Given the description of an element on the screen output the (x, y) to click on. 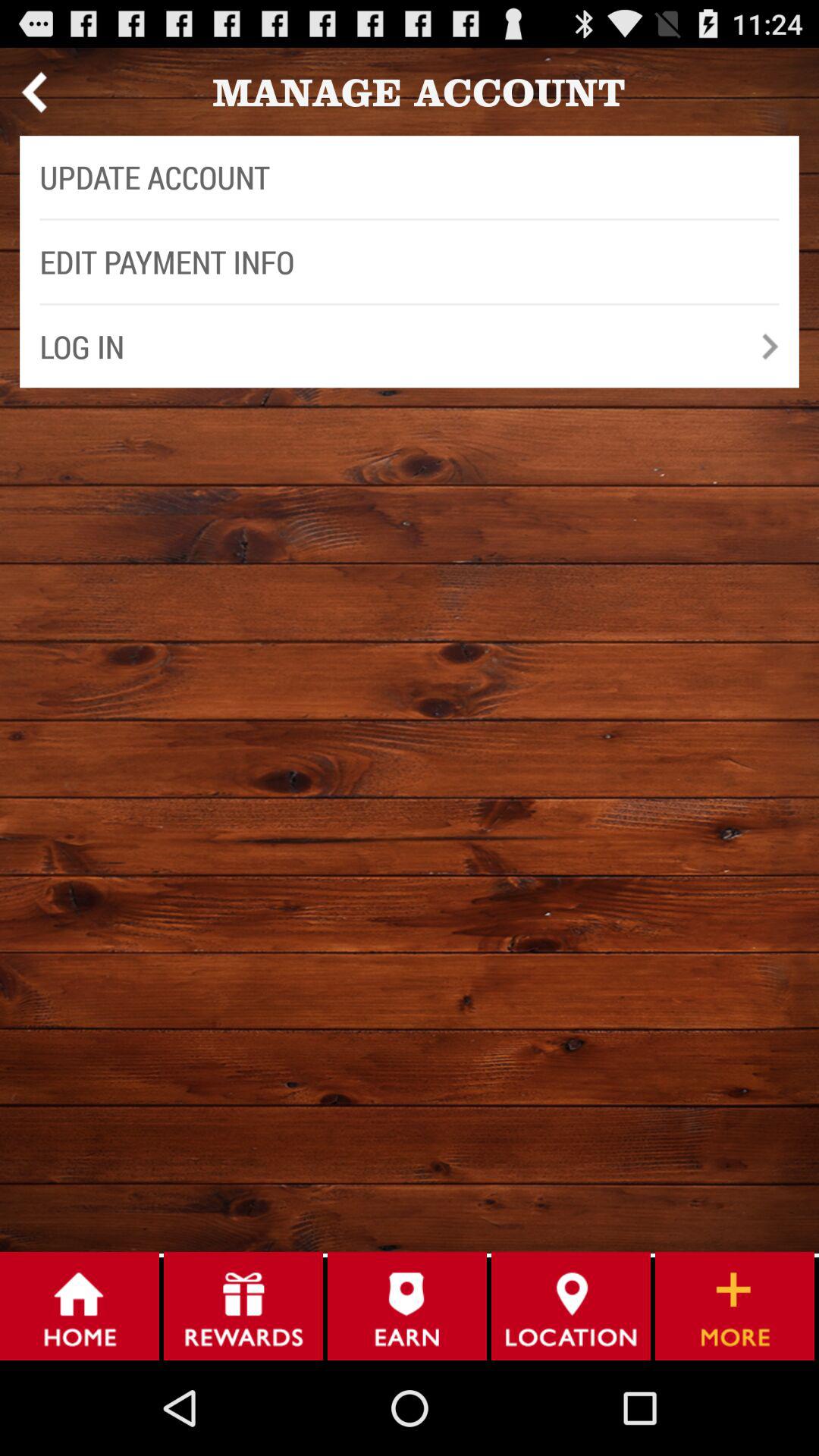
press icon to the left of the manage account (33, 91)
